Given the description of an element on the screen output the (x, y) to click on. 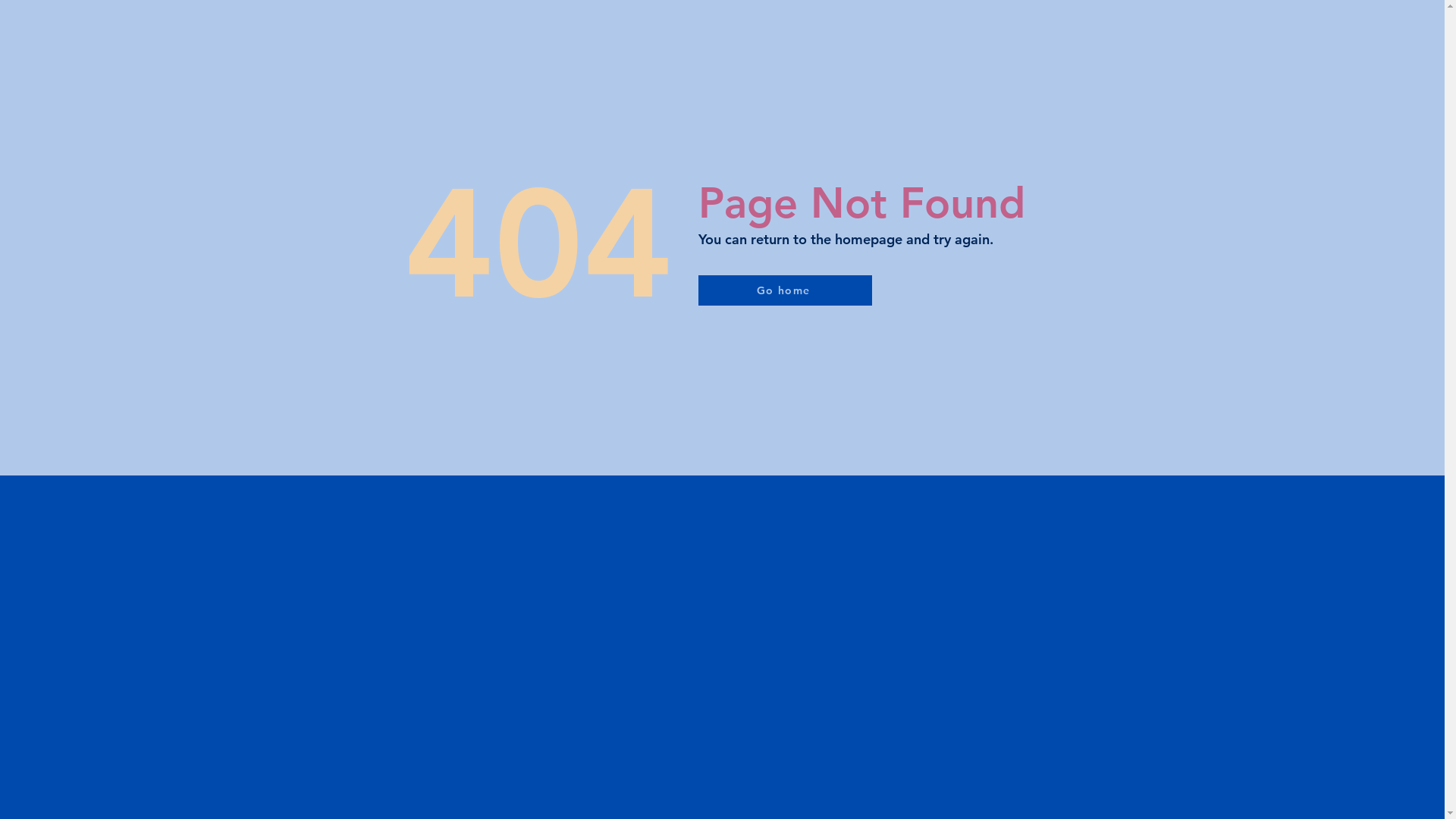
Go home Element type: text (784, 290)
